Given the description of an element on the screen output the (x, y) to click on. 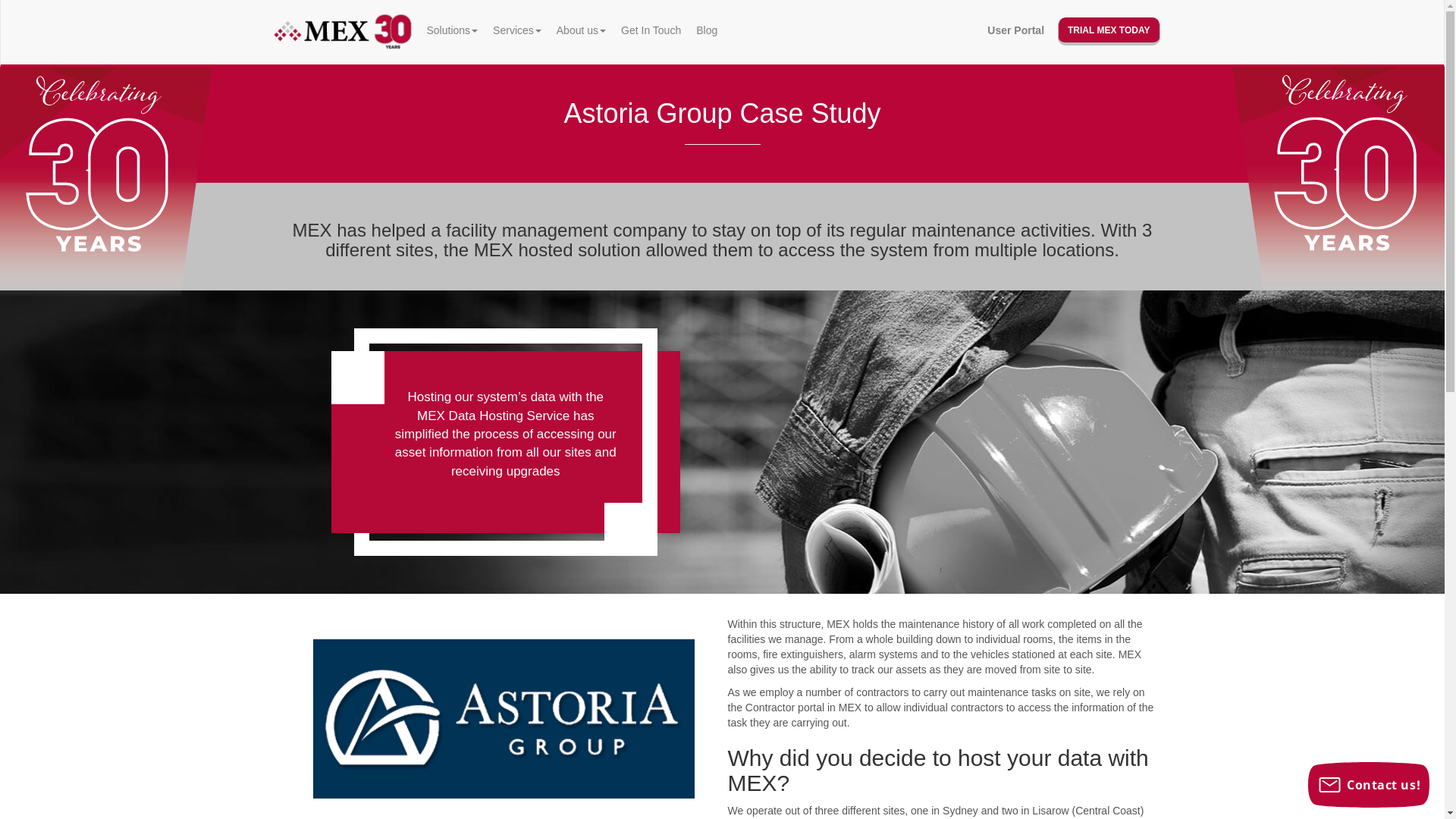
About us Element type: text (581, 30)
MEX 30 Year Anniversary Element type: hover (1338, 218)
TRIAL MEX TODAY Element type: text (1108, 31)
User Portal Element type: text (1015, 30)
Get In Touch Element type: text (650, 30)
Blog Element type: text (706, 30)
Contact us! Element type: text (1368, 784)
Solutions Element type: text (451, 30)
Services Element type: text (517, 30)
MEX Maintenance Software Element type: text (342, 32)
